Given the description of an element on the screen output the (x, y) to click on. 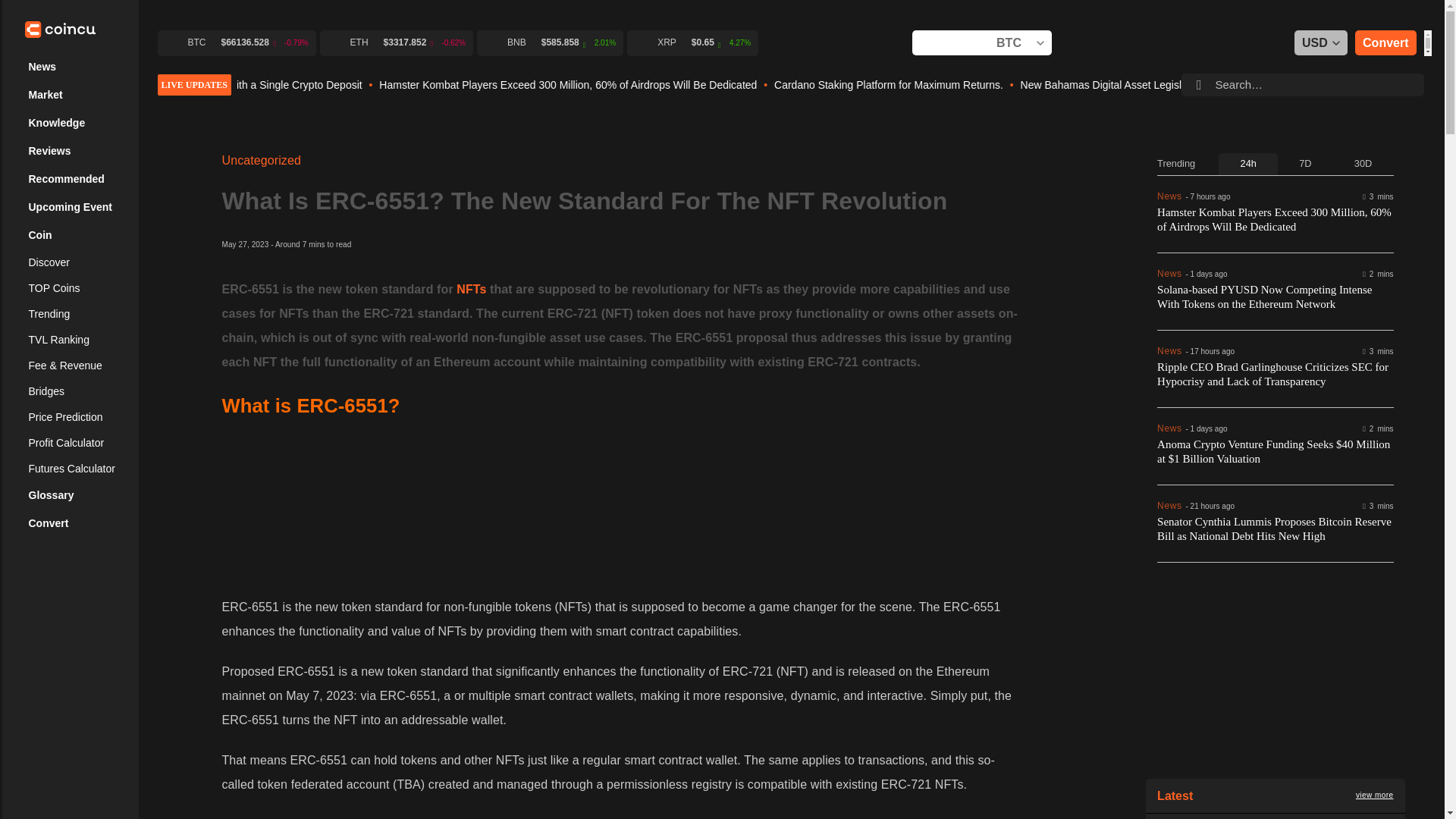
What Is ERC-6551? The New Standard For The NFT Revolution 1 (620, 501)
